Given the description of an element on the screen output the (x, y) to click on. 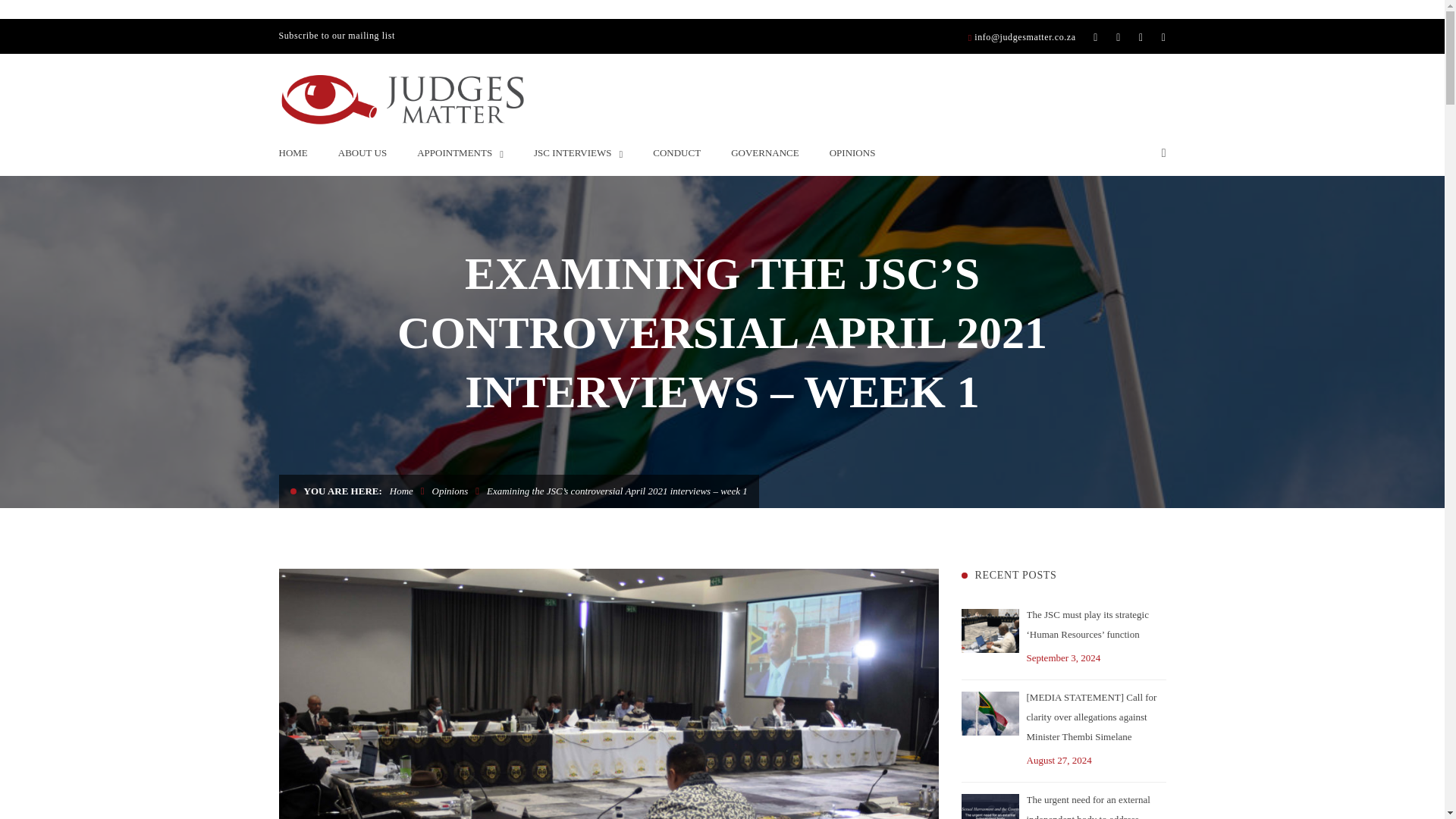
Subscribe to our mailing list (336, 36)
APPOINTMENTS (459, 152)
JSC INTERVIEWS (578, 152)
ABOUT US (362, 152)
HOME (293, 152)
Opinions (450, 490)
